Given the description of an element on the screen output the (x, y) to click on. 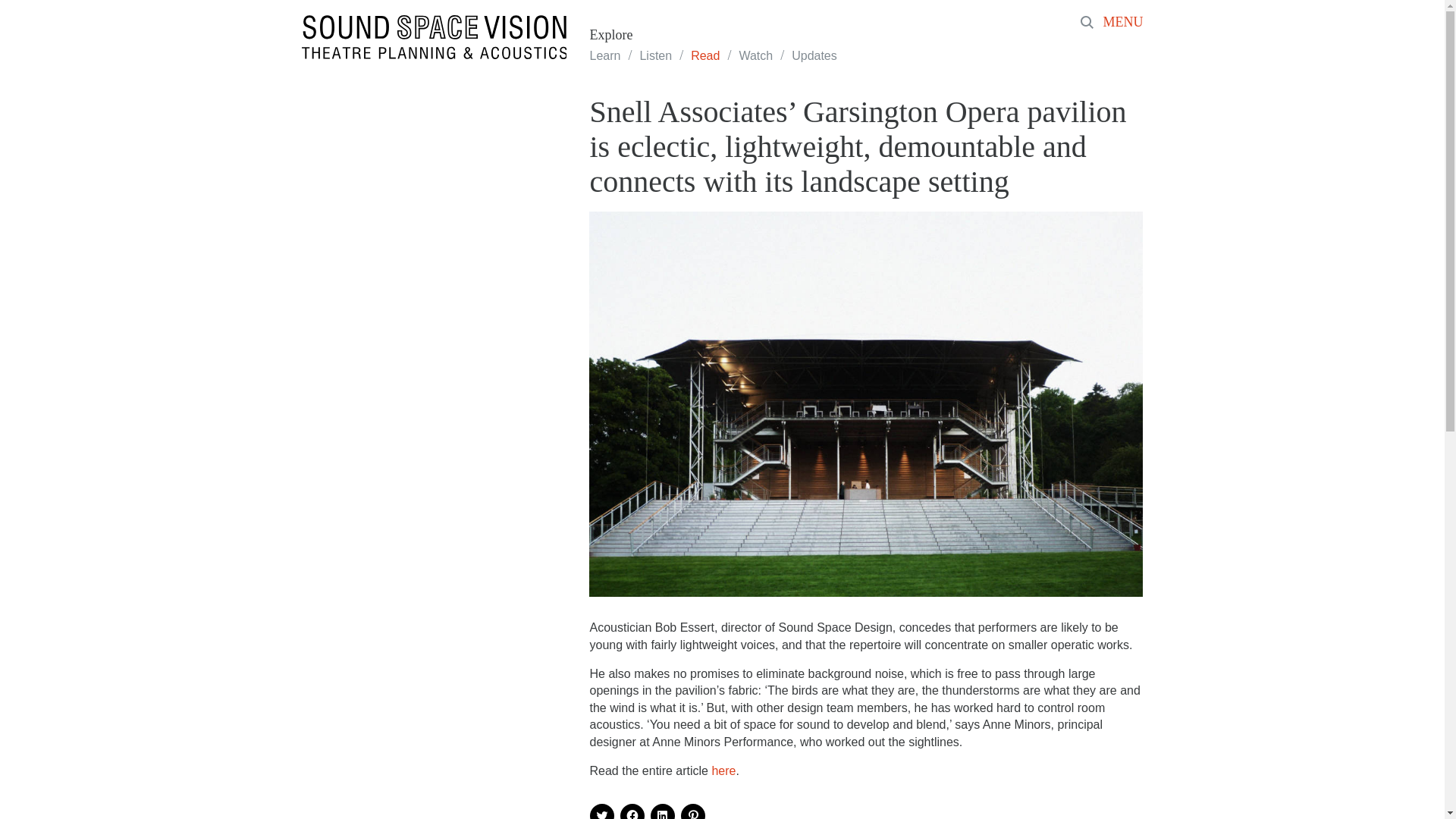
Click to share on Facebook (632, 811)
Listen (655, 55)
Explore (610, 34)
Click to share on LinkedIn (662, 811)
here (723, 770)
Learn (604, 55)
Click to share on Pinterest (692, 811)
Read (704, 55)
Watch (755, 55)
MENU (1125, 22)
